Given the description of an element on the screen output the (x, y) to click on. 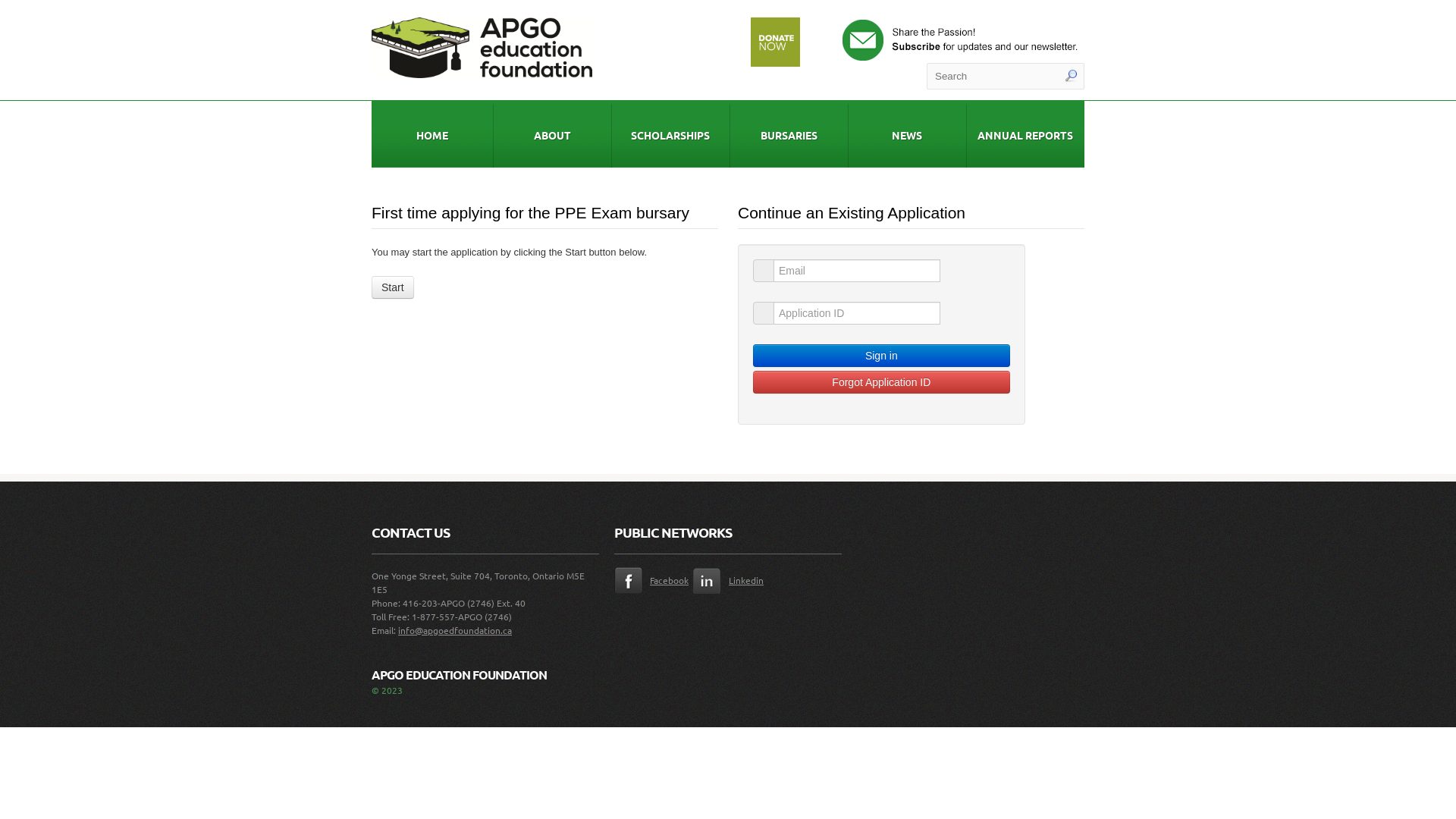
ABOUT Element type: text (551, 133)
BURSARIES Element type: text (788, 133)
HOME Element type: text (431, 133)
NEWS Element type: text (906, 133)
Linkedin Element type: text (732, 580)
SCHOLARSHIPS Element type: text (670, 133)
info@apgoedfoundation.ca Element type: text (454, 630)
ANNUAL REPORTS Element type: text (1025, 133)
Facebook Element type: text (653, 580)
